Given the description of an element on the screen output the (x, y) to click on. 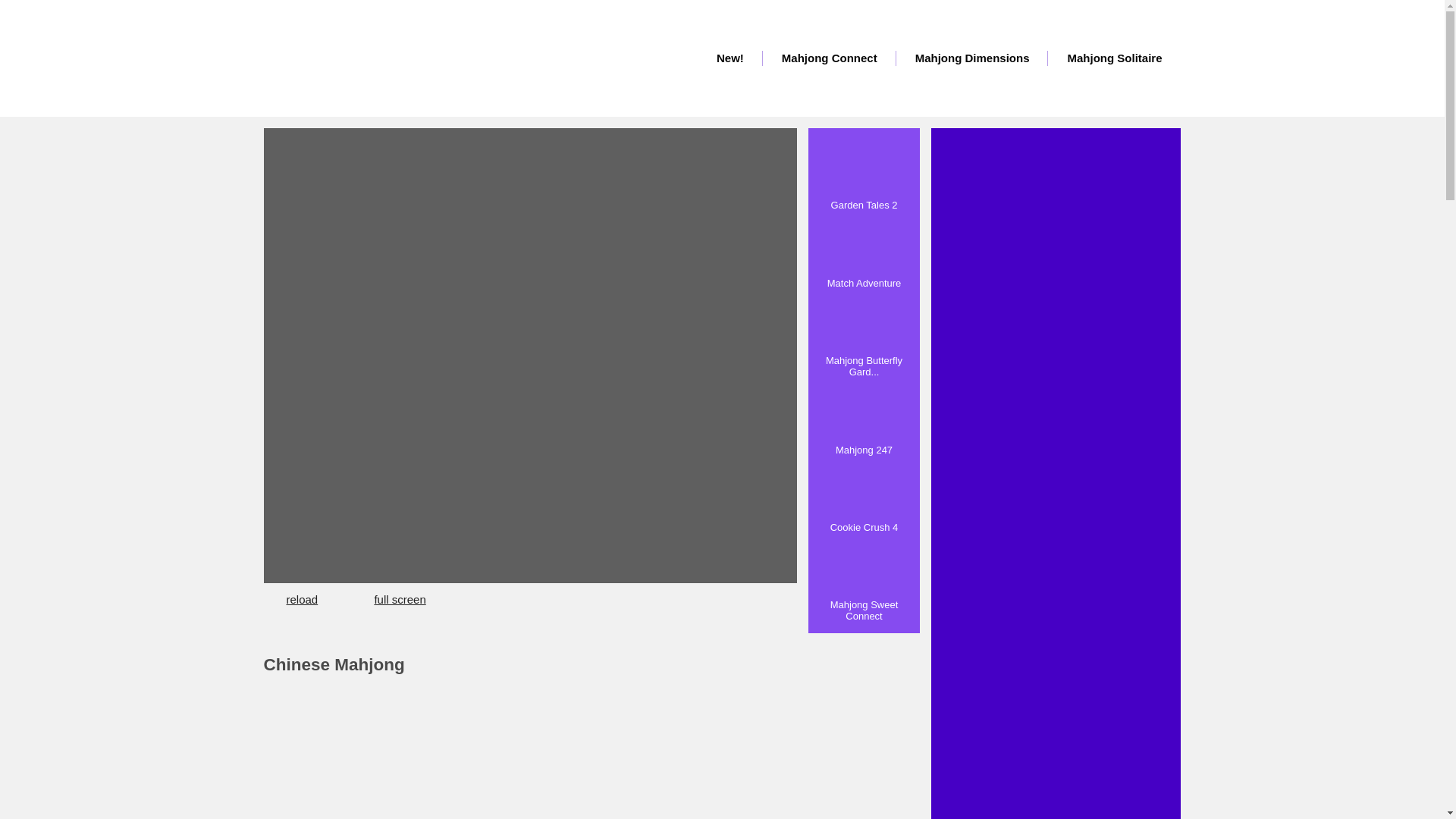
Mahjong Dimensions (972, 58)
Mahjong Butterfly Gard... (864, 336)
Garden Tales 2 (864, 175)
Mahjong Solitaire (1114, 58)
Mahjong 247 (864, 419)
reload (306, 599)
Mahjong Butterfly Garden (864, 336)
Cookie Crush 4 (864, 497)
Mahjong 247 (864, 419)
Garden Tales 2 (864, 175)
full screen (387, 599)
Mahjong Connect (829, 58)
Match Adventure (864, 253)
New! (730, 58)
Match Adventure (864, 253)
